Given the description of an element on the screen output the (x, y) to click on. 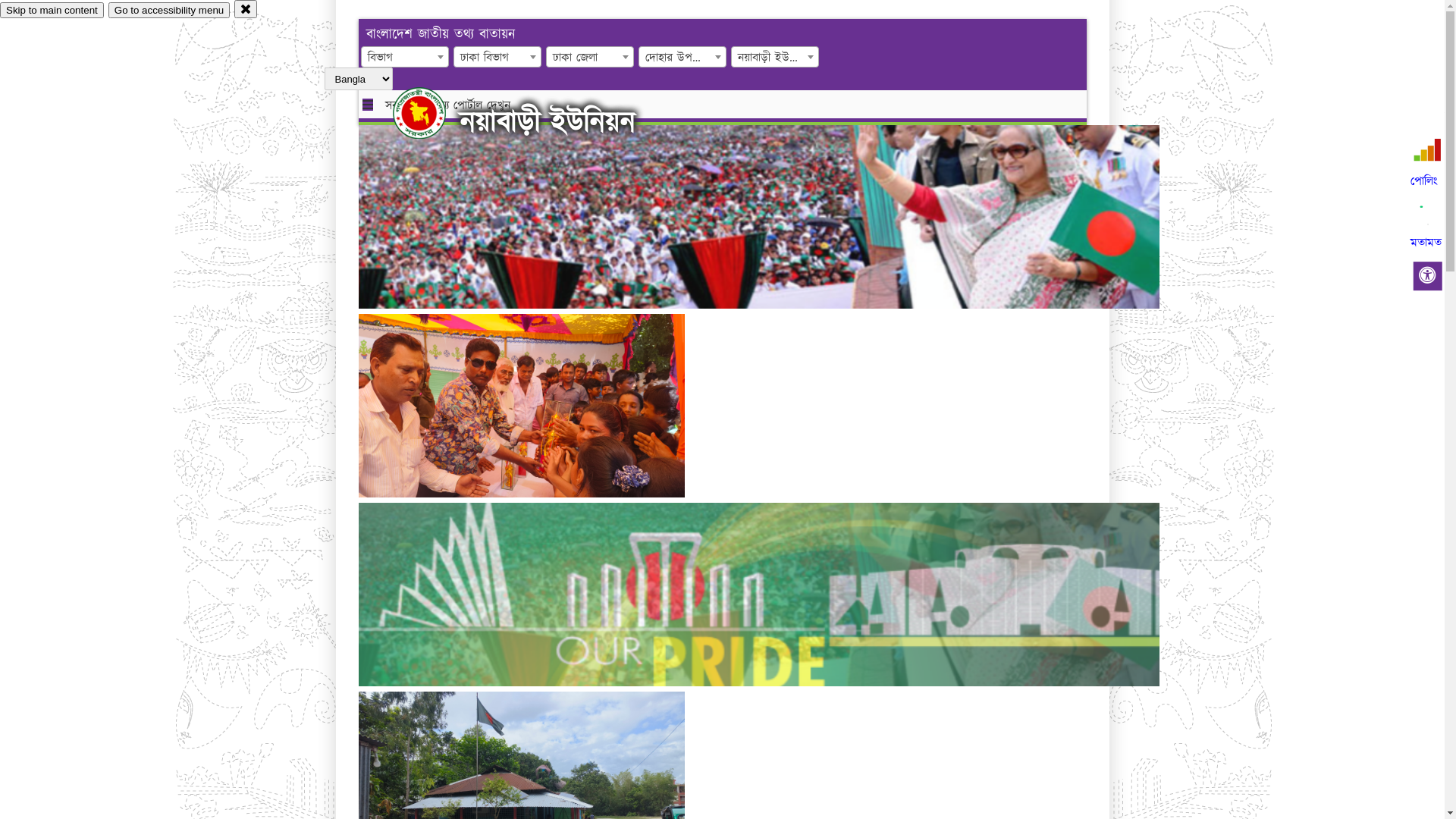
close Element type: hover (245, 9)

                
             Element type: hover (431, 112)
Go to accessibility menu Element type: text (168, 10)
Skip to main content Element type: text (51, 10)
